Given the description of an element on the screen output the (x, y) to click on. 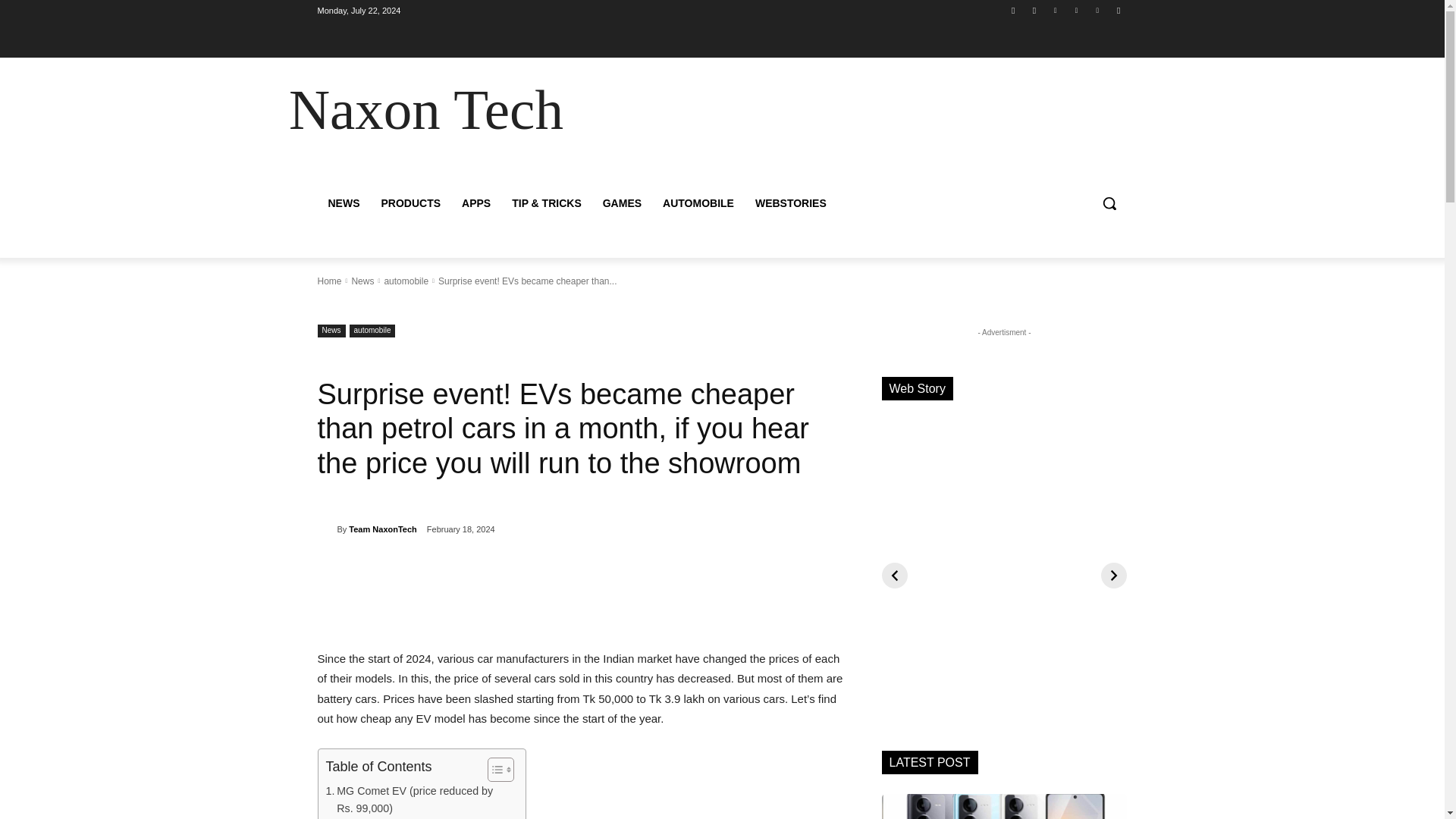
WEBSTORIES (790, 203)
Home (328, 281)
View all posts in News (362, 281)
Youtube (1117, 9)
NEWS (343, 203)
automobile (372, 330)
Pinterest (1075, 9)
News (362, 281)
PRODUCTS (410, 203)
Instagram (1034, 9)
Team NaxonTech (382, 528)
Naxon Tech (425, 109)
News (331, 330)
Twitter (1097, 9)
Linkedin (1055, 9)
